Given the description of an element on the screen output the (x, y) to click on. 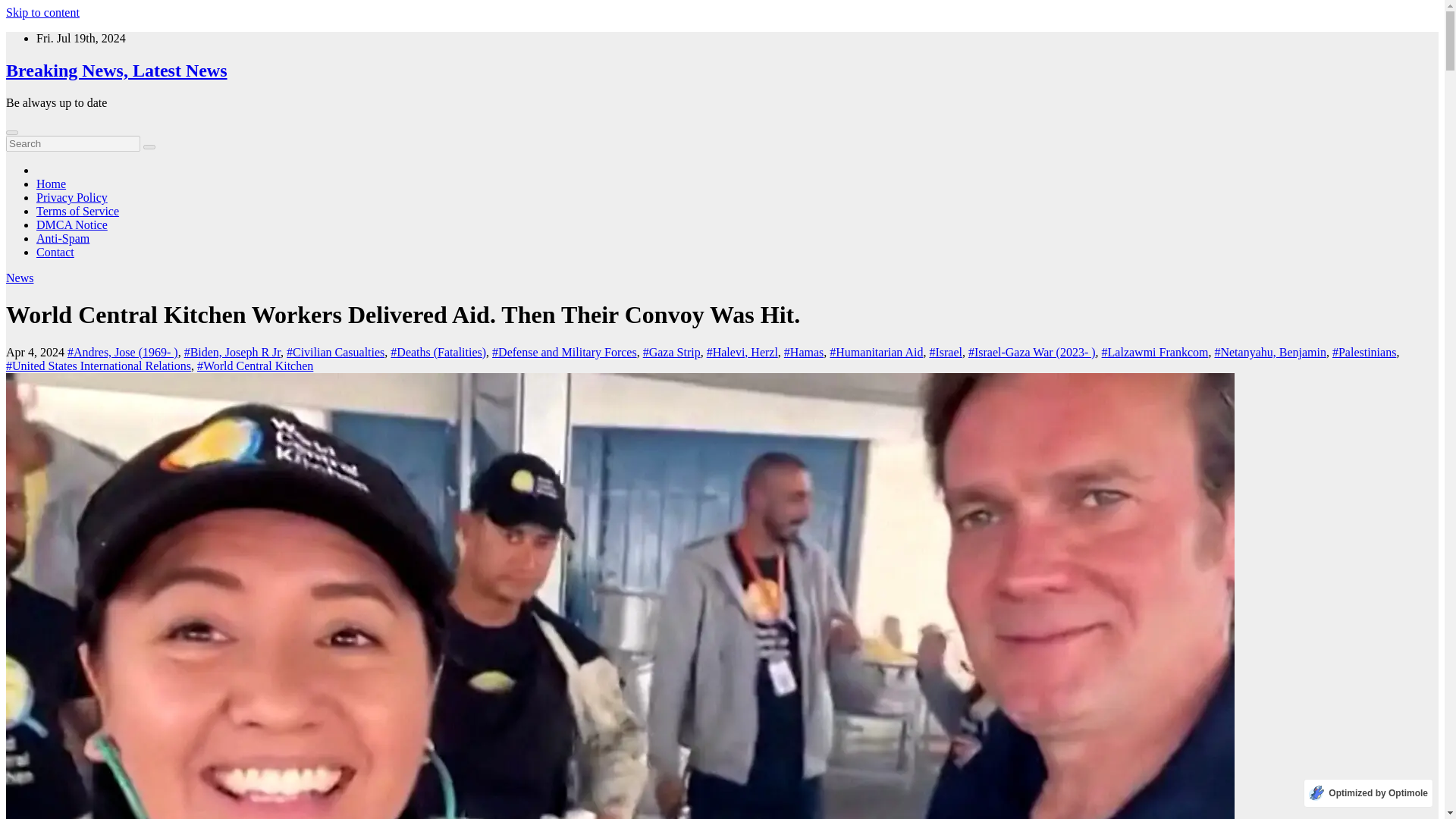
Terms of Service (77, 210)
Home (50, 183)
Breaking News, Latest News (116, 70)
Privacy Policy (71, 196)
Privacy Policy (71, 196)
Skip to content (42, 11)
Contact (55, 251)
DMCA Notice (71, 224)
Terms of Service (77, 210)
Anti-Spam (62, 237)
Anti-Spam (62, 237)
DMCA Notice (71, 224)
